Given the description of an element on the screen output the (x, y) to click on. 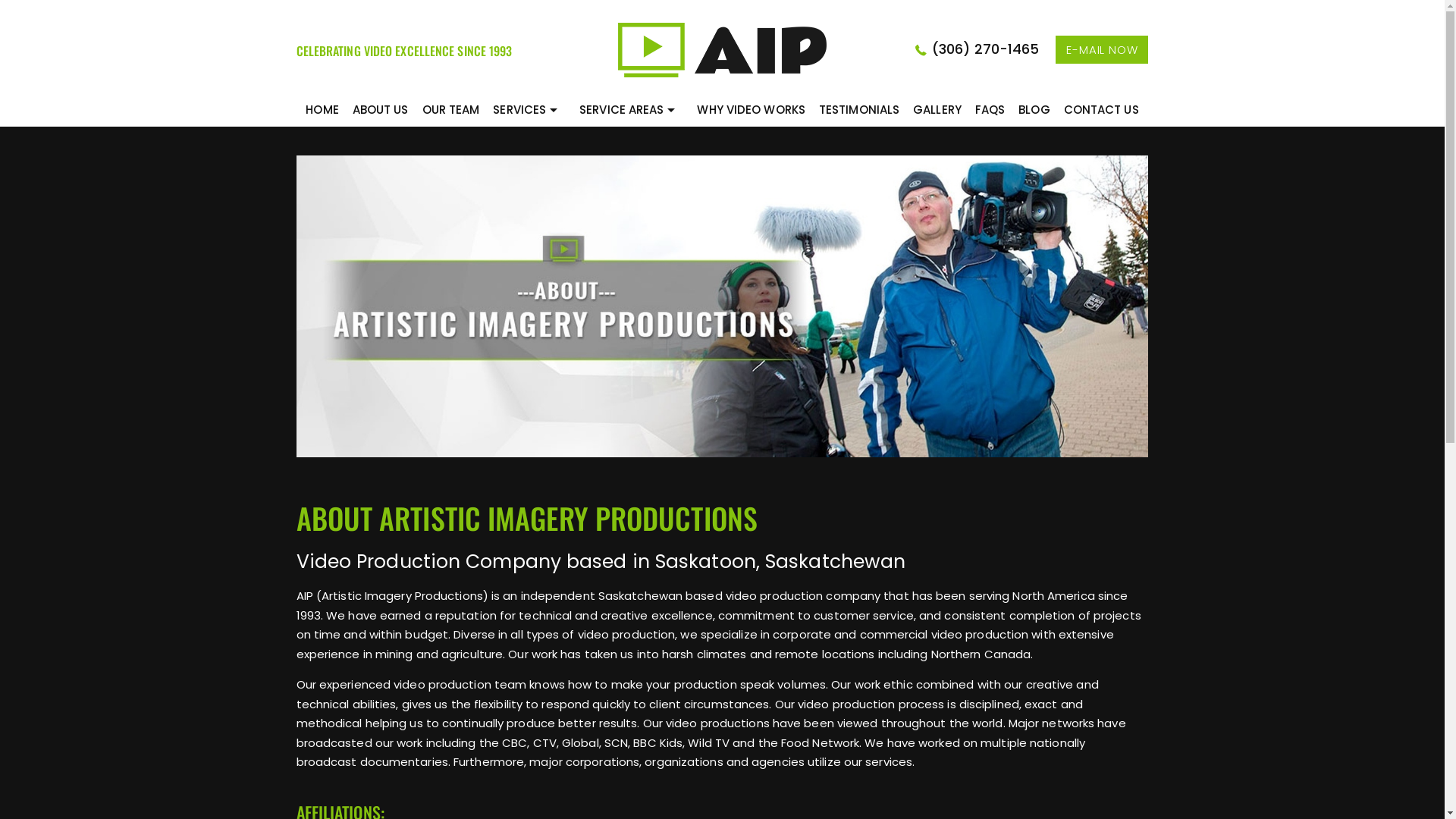
CONTACT US Element type: text (1101, 109)
our services Element type: text (878, 761)
BLOG Element type: text (1033, 109)
TESTIMONIALS Element type: text (859, 109)
HOME Element type: text (321, 109)
GALLERY Element type: text (937, 109)
SERVICES Element type: text (529, 109)
SERVICE AREAS Element type: text (631, 109)
E-MAIL NOW Element type: text (1101, 49)
WHY VIDEO WORKS Element type: text (751, 109)
FAQS Element type: text (989, 109)
ABOUT US Element type: text (380, 109)
OUR TEAM Element type: text (450, 109)
(306) 270-1465 Element type: text (984, 48)
